Given the description of an element on the screen output the (x, y) to click on. 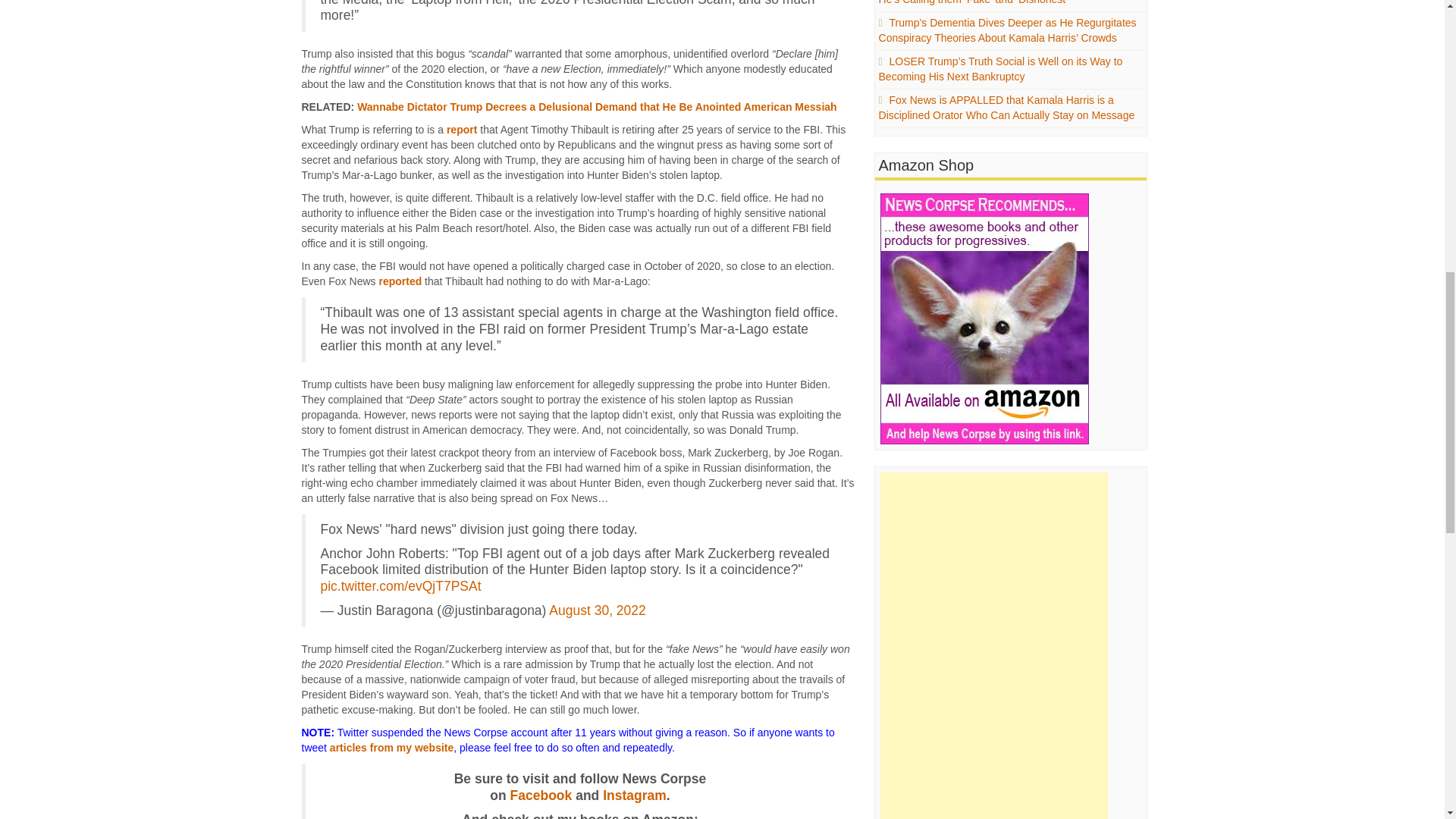
reported (400, 281)
Instagram (634, 795)
Facebook (541, 795)
articles from my website (391, 747)
report (461, 129)
August 30, 2022 (596, 610)
